Given the description of an element on the screen output the (x, y) to click on. 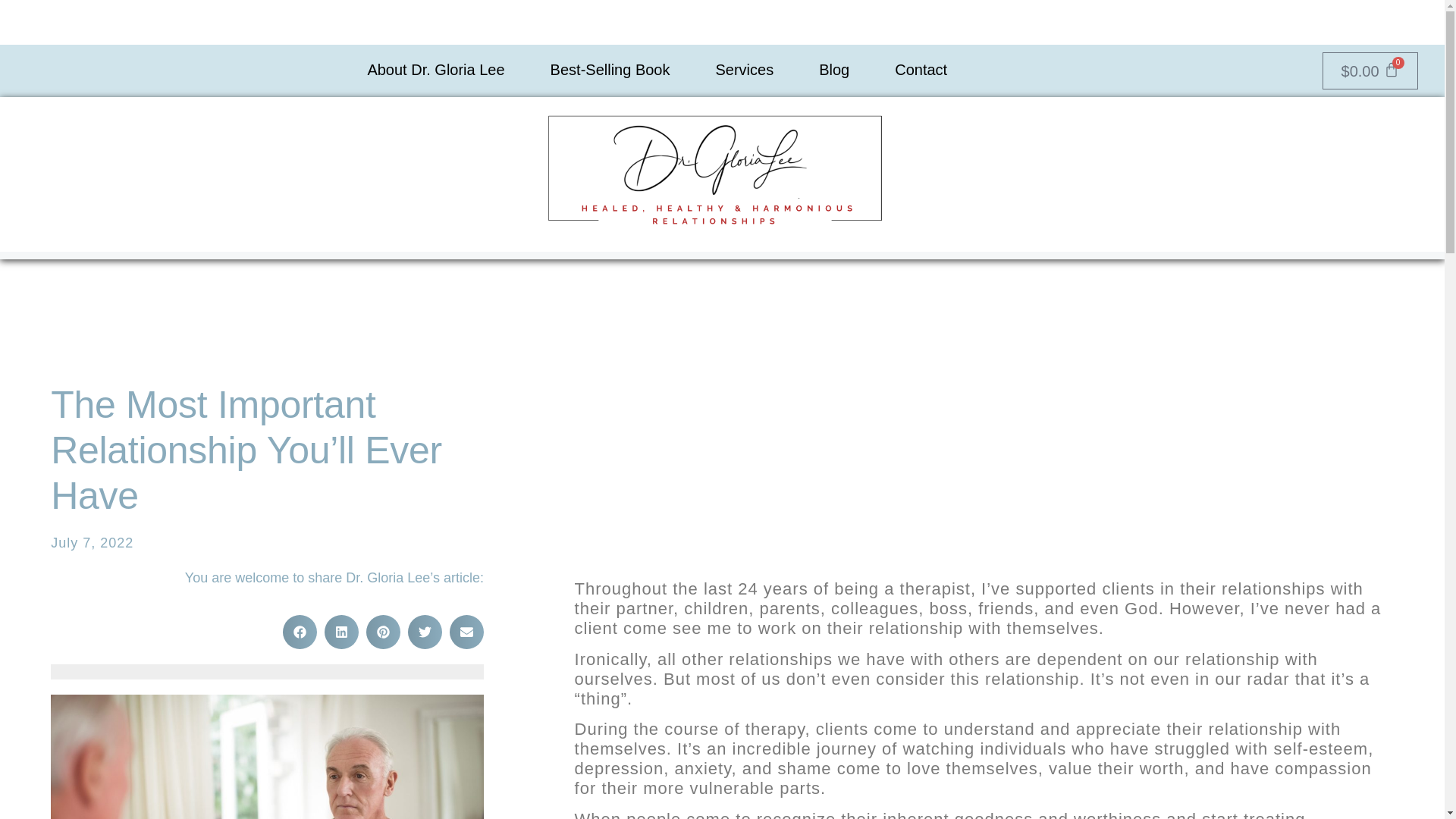
Services (743, 69)
July 7, 2022 (91, 542)
Best-Selling Book (609, 69)
Contact (921, 69)
About Dr. Gloria Lee (434, 69)
